Given the description of an element on the screen output the (x, y) to click on. 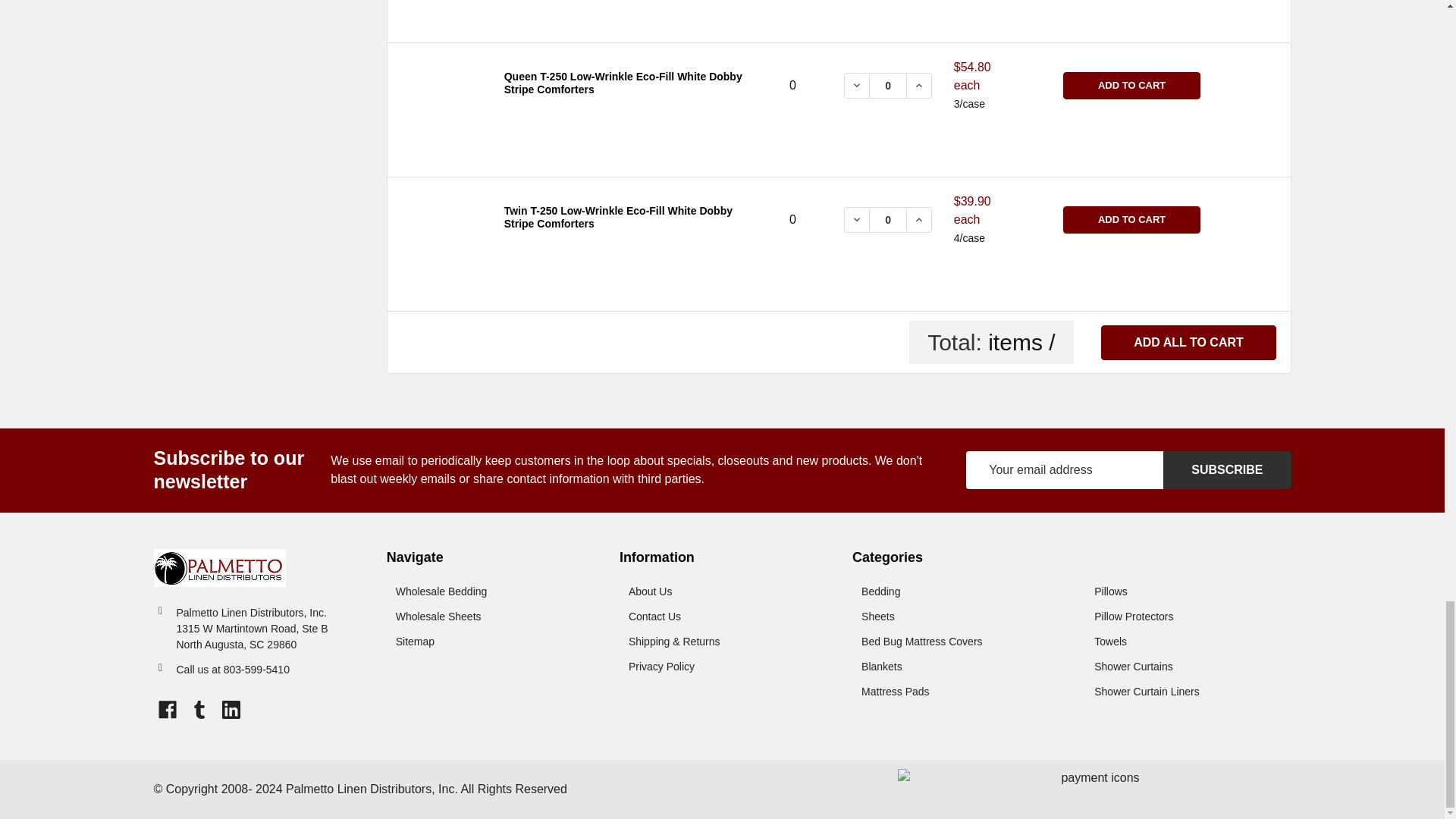
Subscribe (1226, 469)
0 (887, 220)
0 (887, 85)
